Given the description of an element on the screen output the (x, y) to click on. 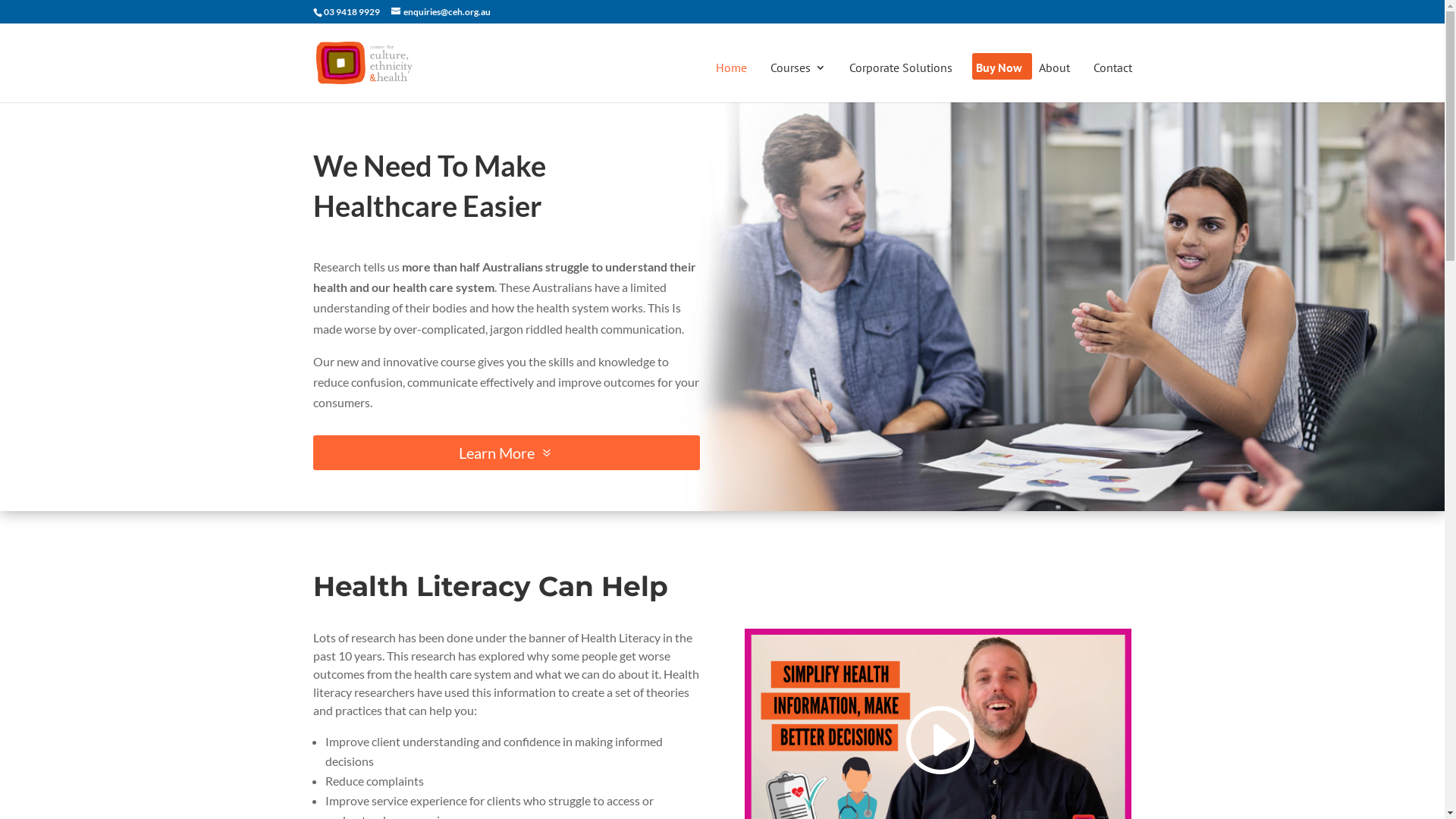
enquiries@ceh.org.au Element type: text (440, 11)
Buy Now Element type: text (998, 82)
Learn More Element type: text (505, 452)
Home Element type: text (730, 82)
About Element type: text (1054, 82)
Courses Element type: text (797, 82)
Corporate Solutions Element type: text (900, 82)
Contact Element type: text (1112, 82)
